Given the description of an element on the screen output the (x, y) to click on. 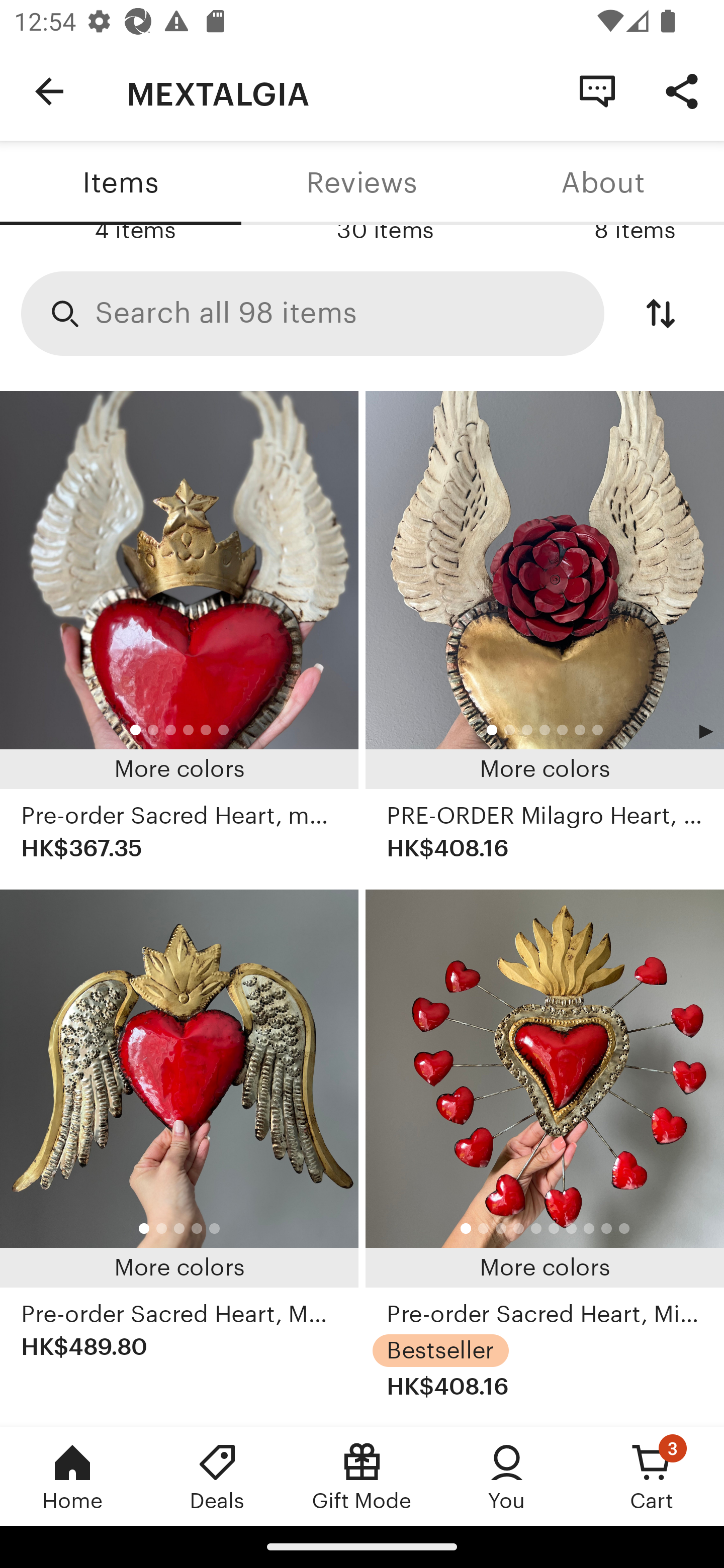
Navigate up (49, 91)
Contact Shop (597, 90)
Share (681, 90)
Reviews (361, 183)
About (603, 183)
Search Search all 98 items (312, 313)
Deals (216, 1475)
Gift Mode (361, 1475)
You (506, 1475)
Cart, 3 new notifications Cart (651, 1475)
